Given the description of an element on the screen output the (x, y) to click on. 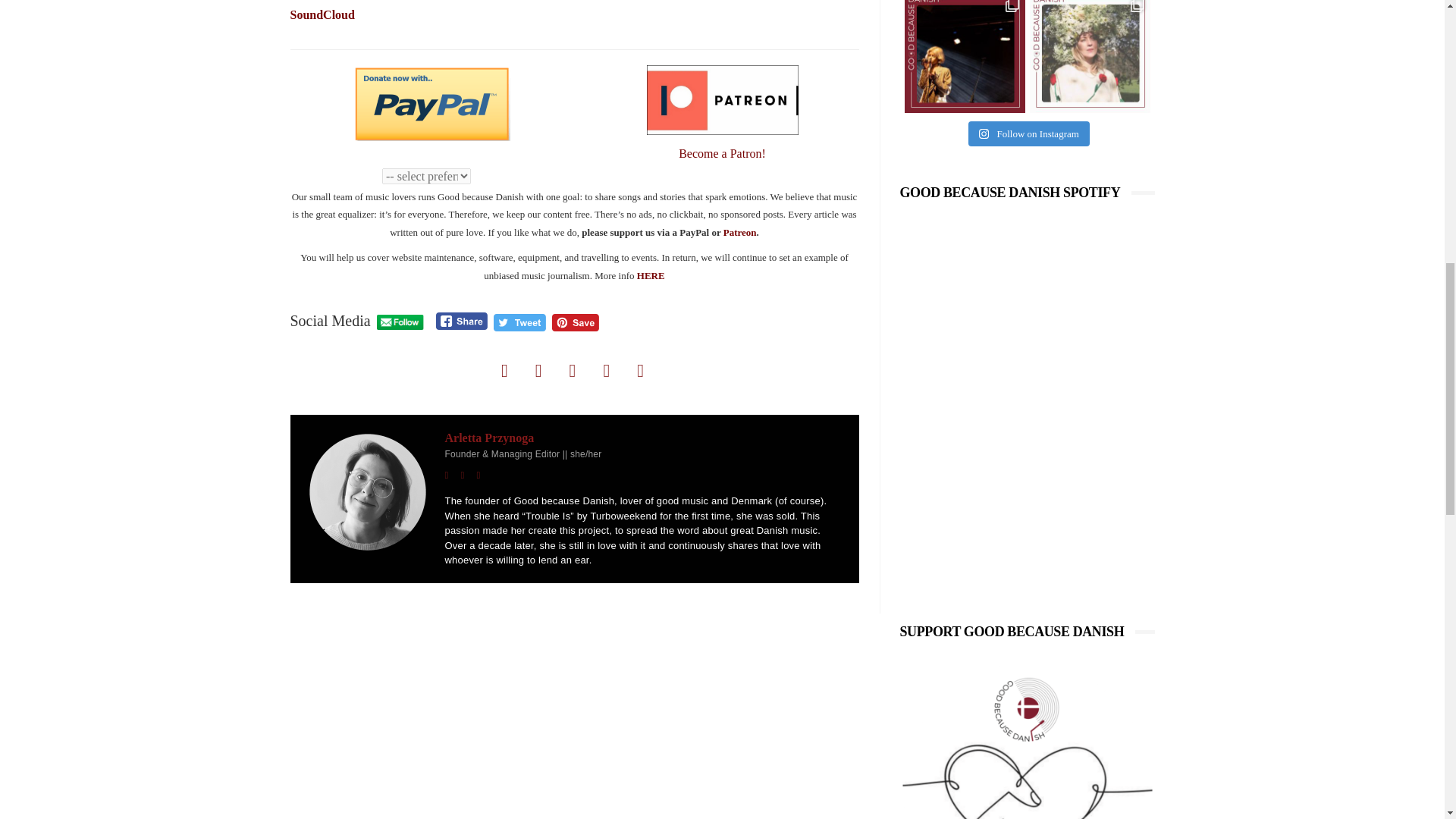
Facebook Share (461, 321)
SoundCloud (321, 14)
Pin Share (574, 322)
Tweet (519, 322)
